Given the description of an element on the screen output the (x, y) to click on. 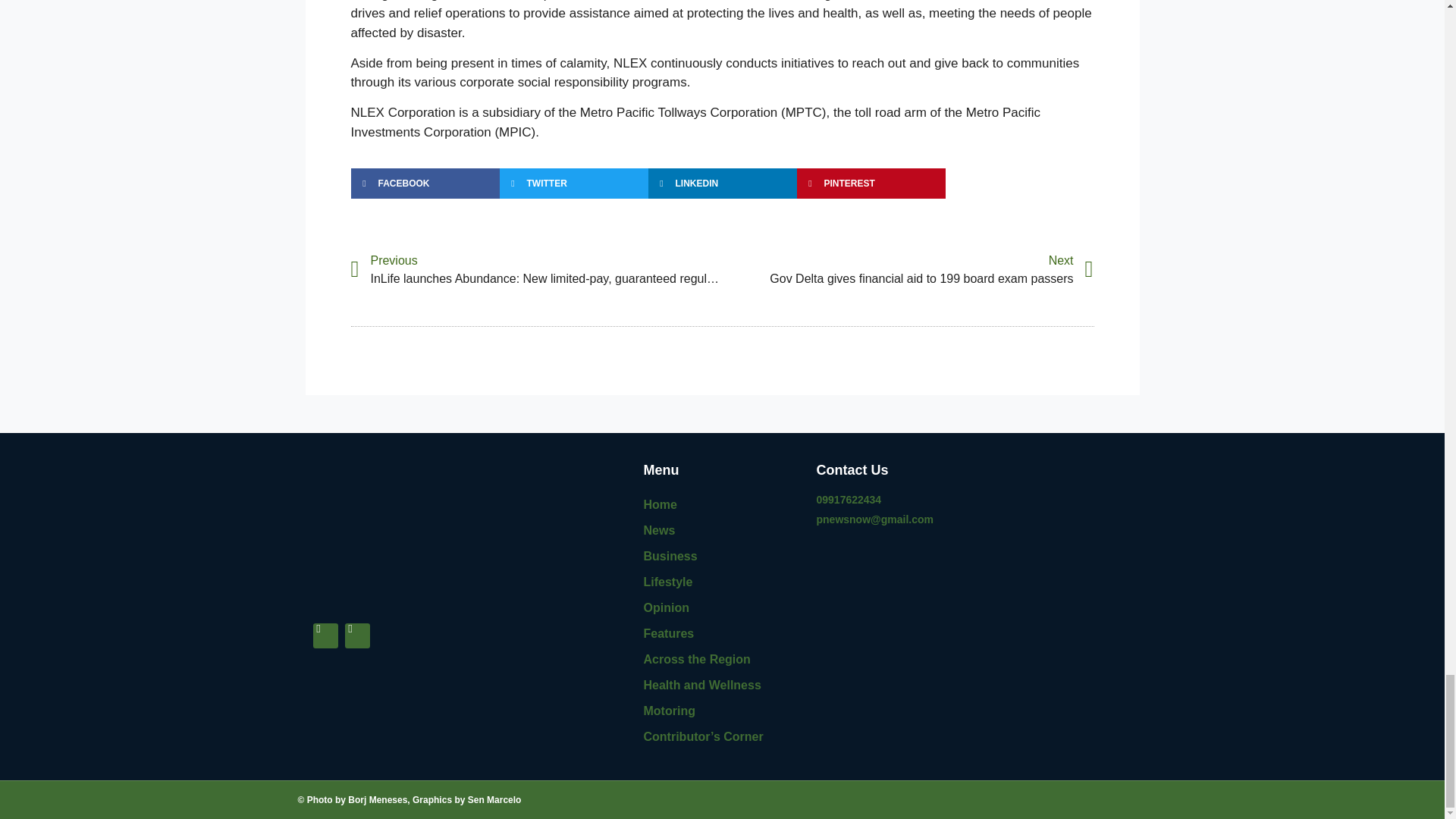
Business (721, 556)
Health and Wellness (721, 685)
Motoring (907, 269)
Lifestyle (721, 710)
News (721, 582)
Across the Region (721, 530)
Features (721, 659)
Home (721, 633)
Opinion (721, 504)
